Given the description of an element on the screen output the (x, y) to click on. 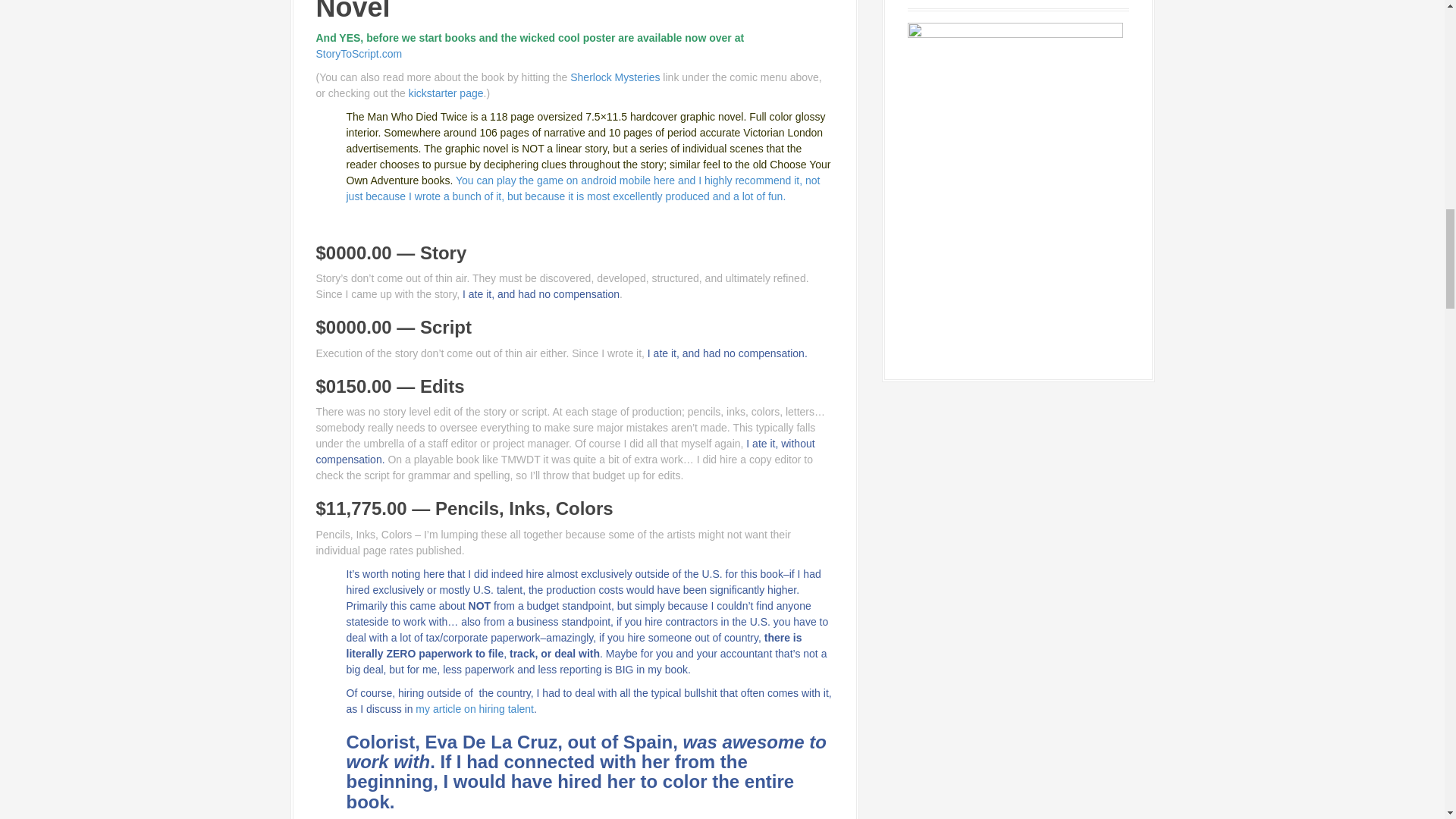
StoryToScript.com (358, 53)
my article on hiring talent (474, 708)
kickstarter page (446, 92)
Sherlock Mysteries (614, 77)
